Given the description of an element on the screen output the (x, y) to click on. 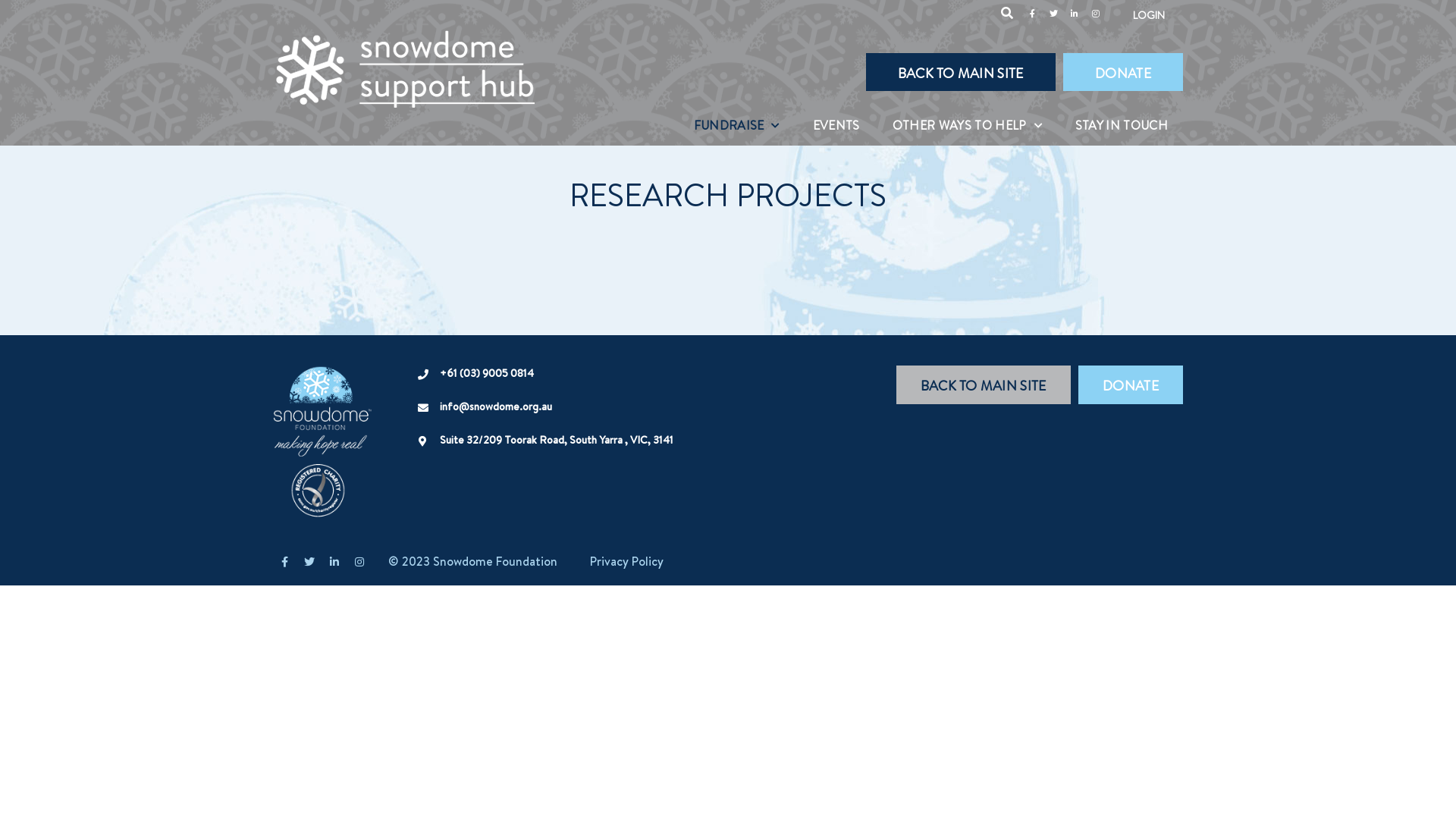
Privacy Policy Element type: text (626, 561)
DONATE Element type: text (1130, 384)
+61 (03) 9005 0814 Element type: text (486, 372)
BACK TO MAIN SITE Element type: text (960, 72)
OTHER WAYS TO HELP Element type: text (967, 125)
STAY IN TOUCH Element type: text (1121, 125)
EVENTS Element type: text (836, 125)
DONATE Element type: text (1123, 72)
BACK TO MAIN SITE Element type: text (983, 384)
FUNDRAISE Element type: text (736, 125)
info@snowdome.org.au Element type: text (495, 406)
LOGIN Element type: text (1148, 15)
